Given the description of an element on the screen output the (x, y) to click on. 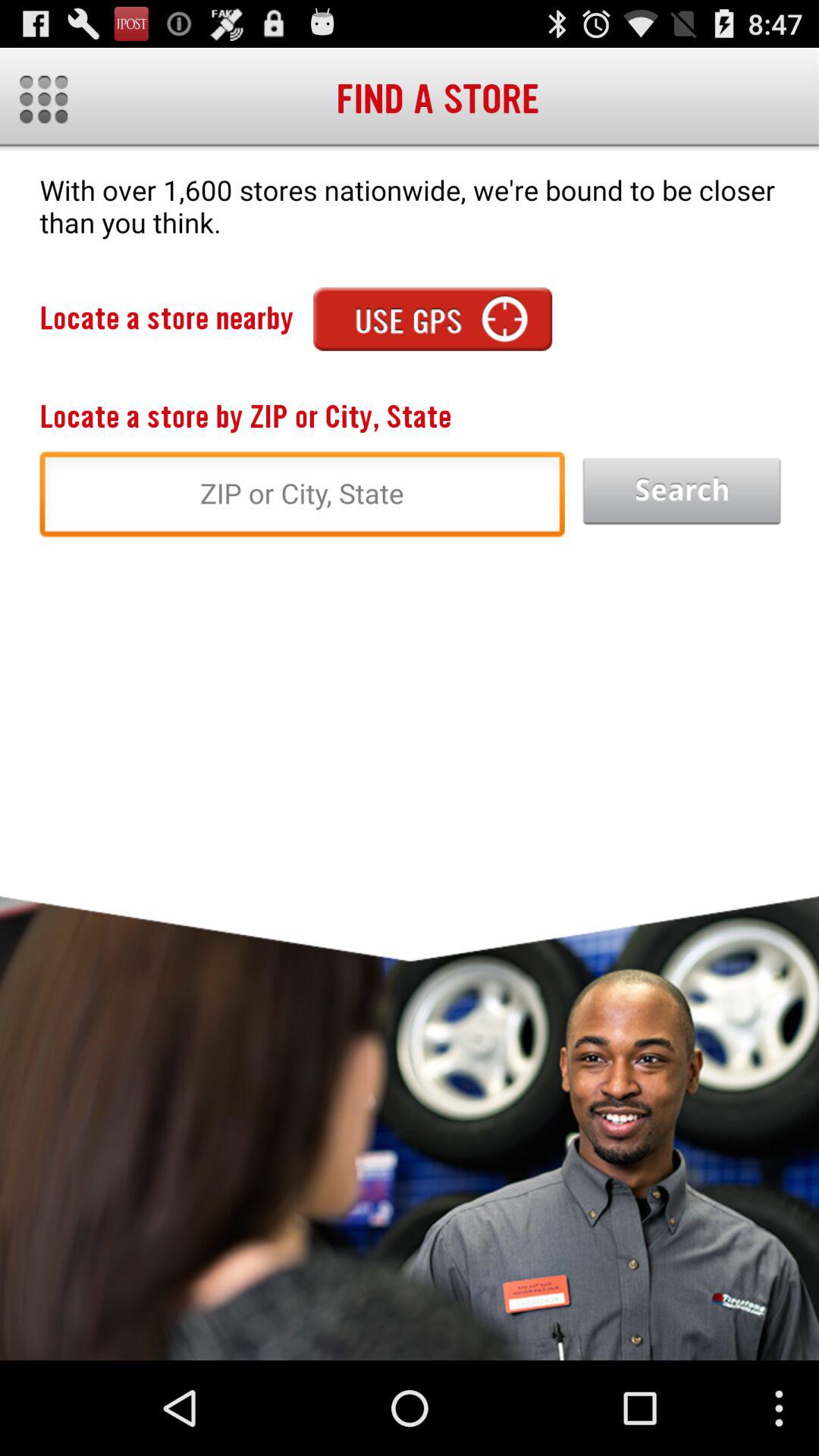
press the app to the right of the locate a store (432, 318)
